Given the description of an element on the screen output the (x, y) to click on. 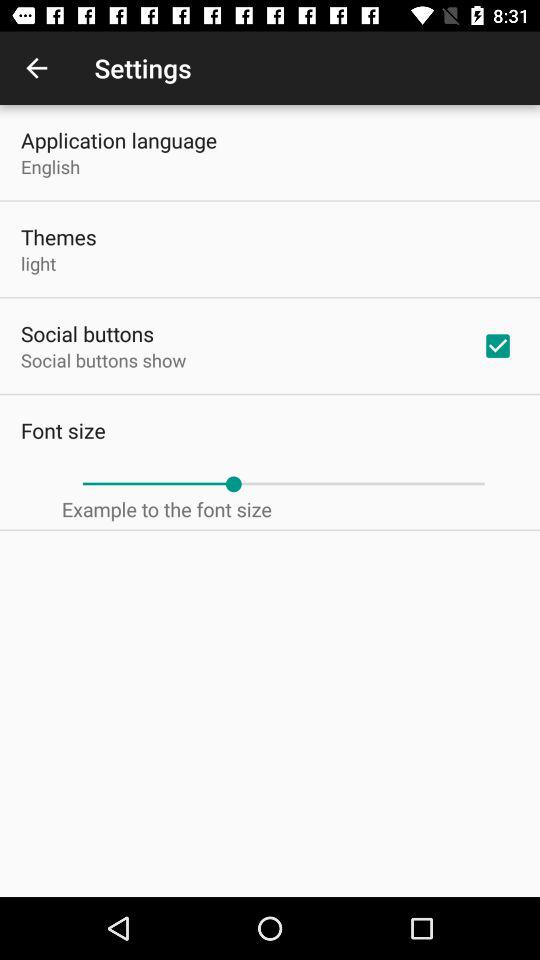
select light item (38, 263)
